Given the description of an element on the screen output the (x, y) to click on. 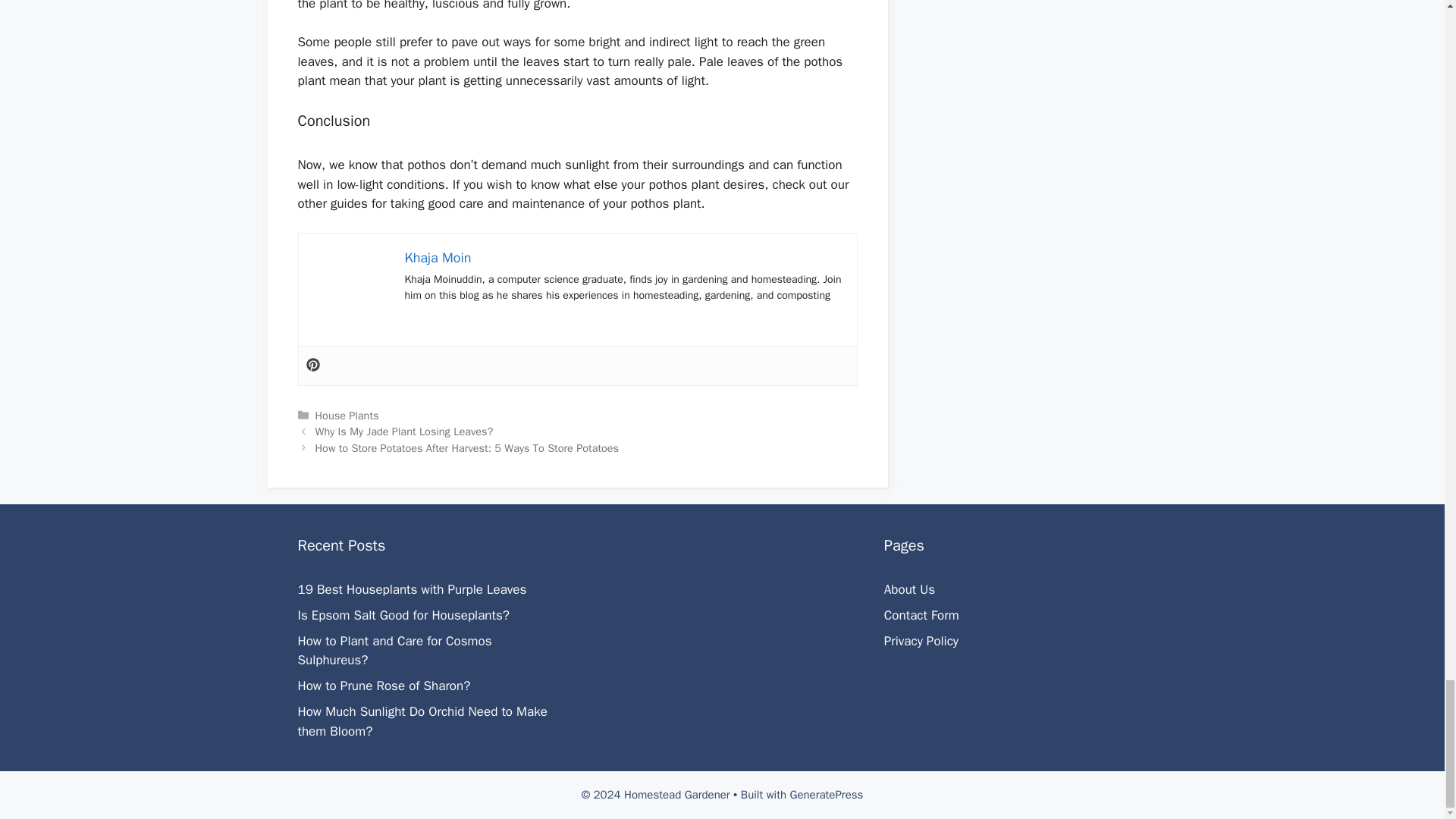
Khaja Moin (437, 257)
House Plants (346, 415)
Why Is My Jade Plant Losing Leaves? (404, 431)
